Given the description of an element on the screen output the (x, y) to click on. 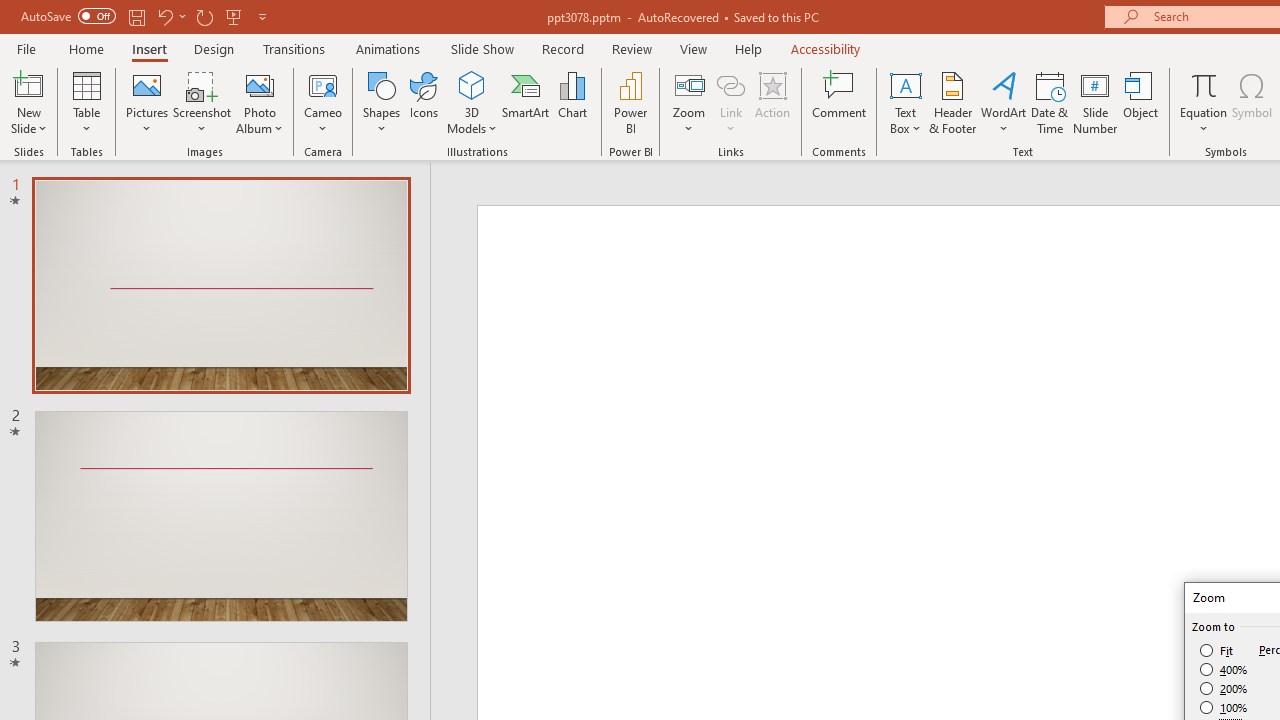
Text Box (905, 102)
Table (86, 102)
Equation (1203, 84)
Draw Horizontal Text Box (905, 84)
400% (1224, 669)
Comment (839, 102)
Chart... (572, 102)
